Given the description of an element on the screen output the (x, y) to click on. 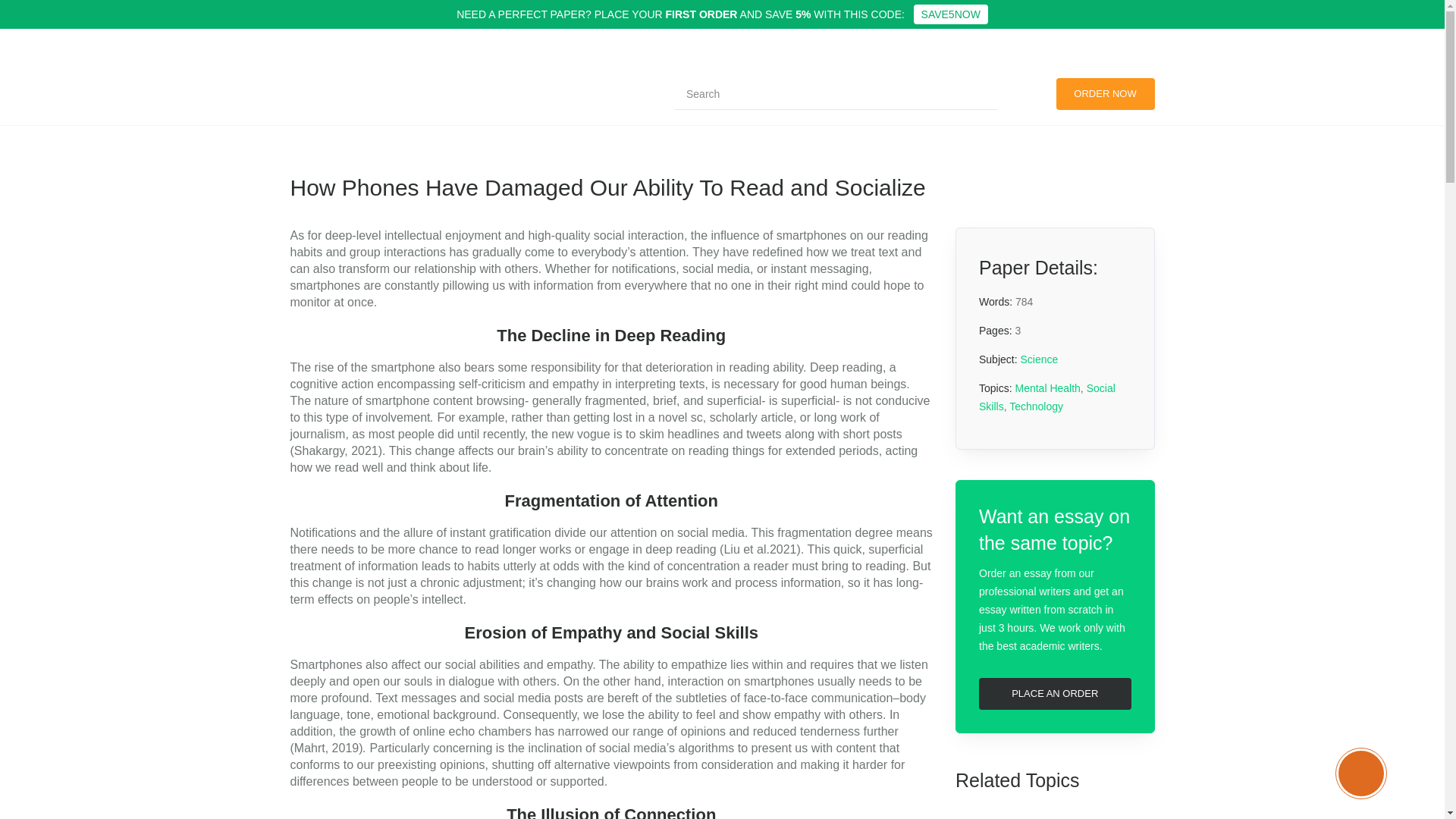
SAVE5NOW (951, 14)
Technology (1035, 406)
Science (354, 101)
Technology (1054, 814)
ORDER NOW (1104, 93)
Home (305, 101)
Mental Health (1047, 387)
Science (1039, 358)
Social Skills (1046, 397)
PLACE AN ORDER (1054, 694)
